Given the description of an element on the screen output the (x, y) to click on. 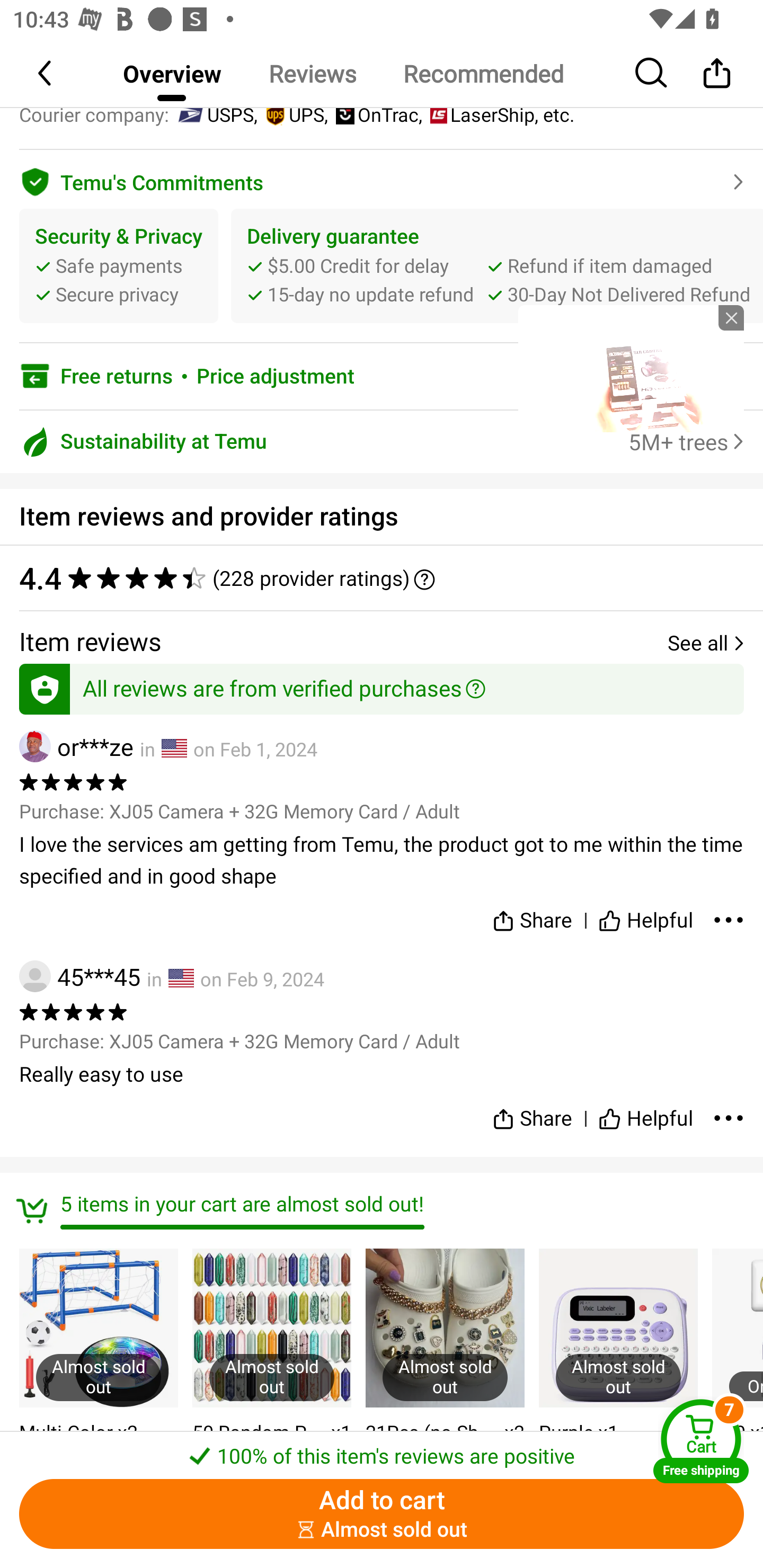
Overview (171, 72)
Reviews (311, 72)
Recommended (482, 72)
Back (46, 72)
Share (716, 72)
Temu's Commitments (381, 179)
Security & Privacy Safe payments Secure privacy (118, 265)
tronplayer_view (631, 368)
Free returns￼Price adjustment (381, 376)
Sustainability at Temu 5M+ trees (381, 441)
4.4 ‪(228 provider ratings) (381, 577)
All reviews are from verified purchases  (381, 685)
or***ze (76, 746)
  Share (532, 916)
  Helpful (645, 916)
45***45 (79, 975)
  Share (532, 1110)
  Helpful (645, 1110)
Almost sold out Multi-Color  x2 $24.98 $42.00 (98, 1364)
Almost sold out 50 Random Pcs  x1 $13.49 $50.33 (271, 1364)
Almost sold out 21Pcs (no Shoes)  x2 $5.84 (444, 1364)
Almost sold out Purple  x1 $37.37 $104.92 (618, 1364)
Cart Free shipping Cart (701, 1440)
￼￼100% of this item's reviews are positive (381, 1450)
Add to cart ￼￼Almost sold out (381, 1513)
